Given the description of an element on the screen output the (x, y) to click on. 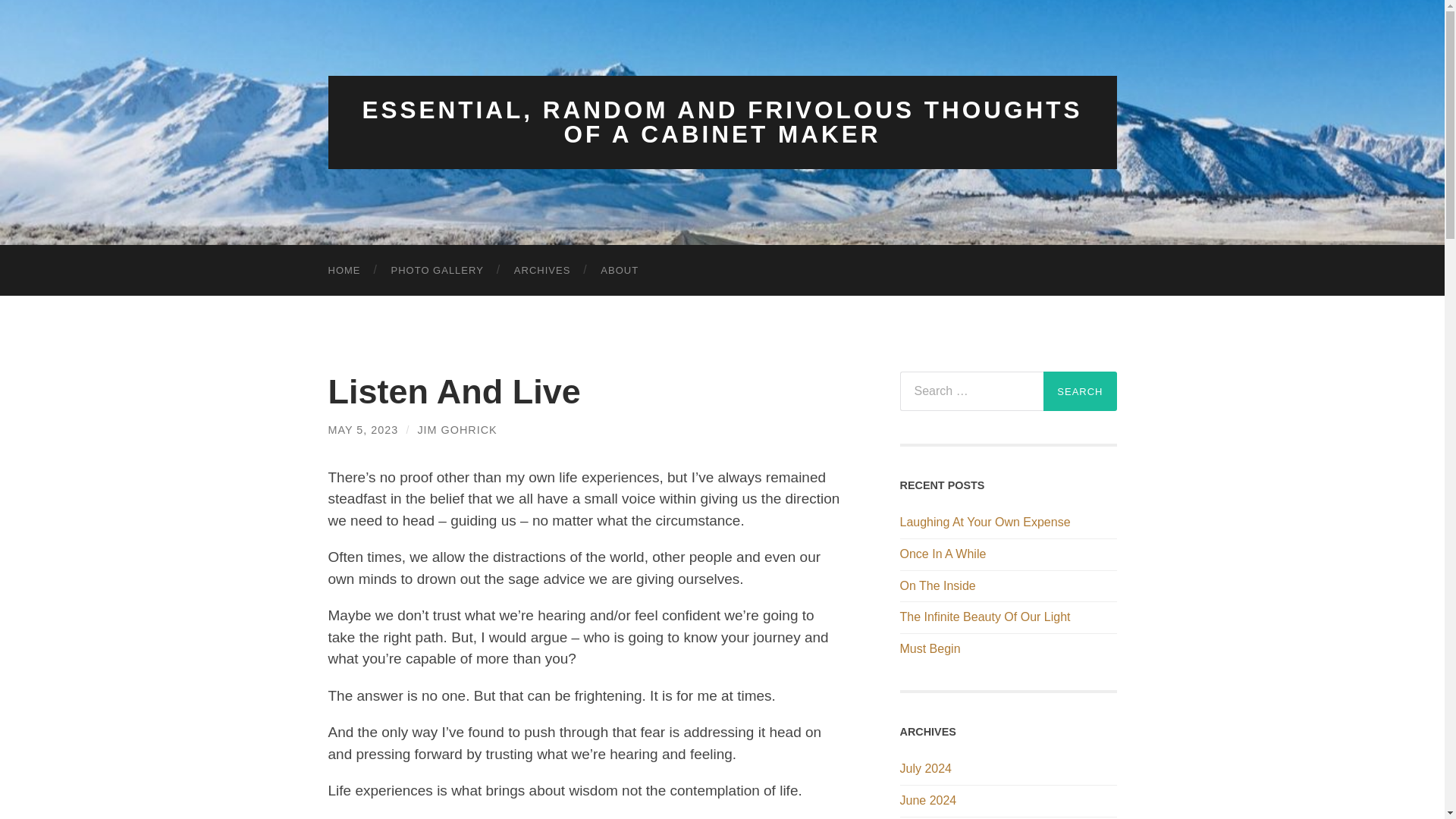
Posts by Jim Gohrick (456, 429)
MAY 5, 2023 (362, 429)
JIM GOHRICK (456, 429)
HOME (344, 269)
Search (1079, 391)
Search (1079, 391)
July 2024 (925, 768)
Must Begin (1007, 649)
The Infinite Beauty Of Our Light (1007, 617)
ABOUT (619, 269)
ARCHIVES (542, 269)
Once In A While (1007, 554)
Search (1079, 391)
PHOTO GALLERY (437, 269)
Laughing At Your Own Expense (1007, 522)
